Given the description of an element on the screen output the (x, y) to click on. 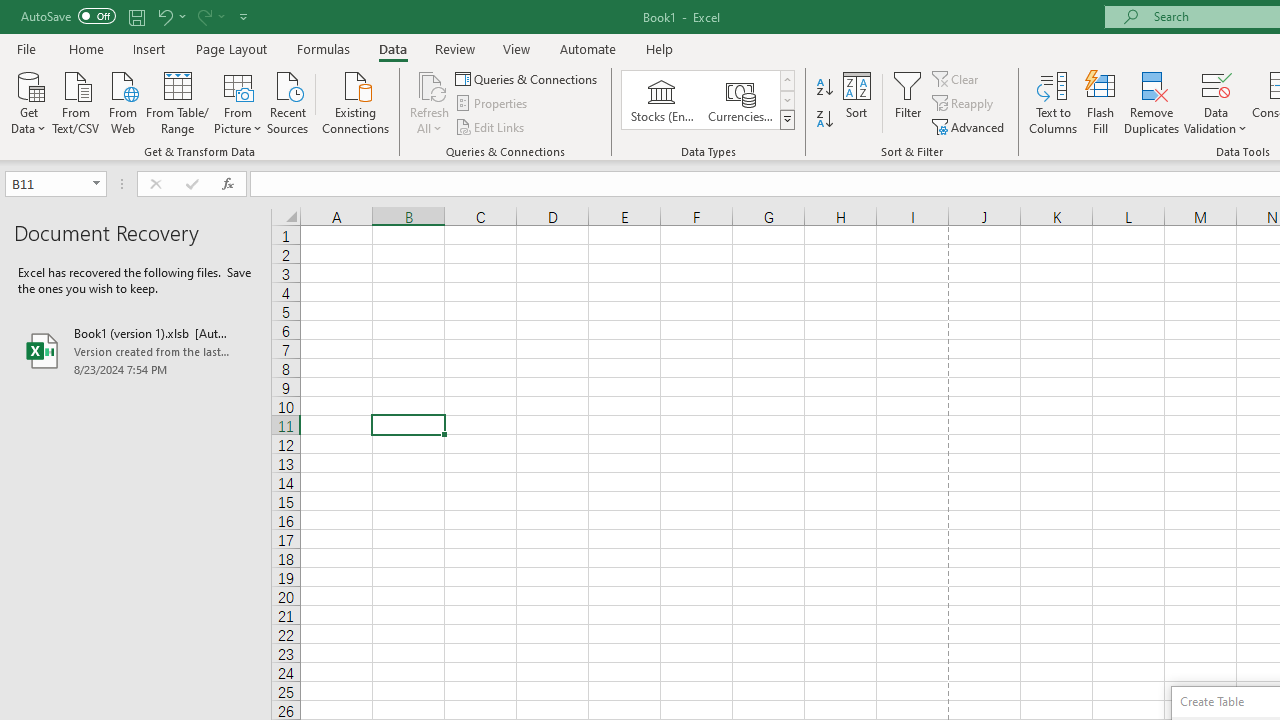
From Table/Range (177, 101)
Data Types (786, 120)
Remove Duplicates (1151, 102)
